Given the description of an element on the screen output the (x, y) to click on. 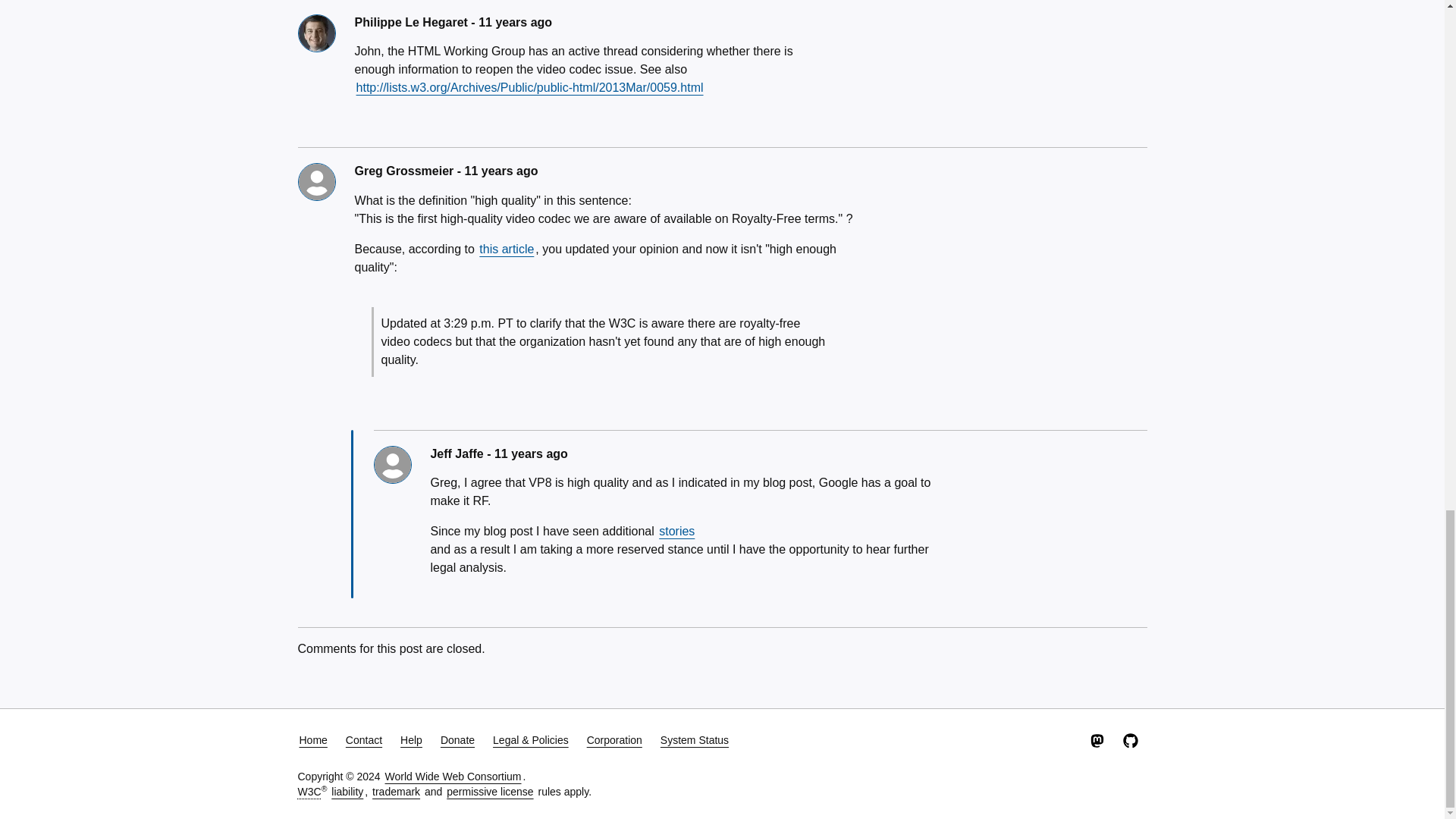
9 May 2013 at 23:04:47 UTC (531, 453)
15 March 2013 at 14:44:44 UTC (515, 21)
W3C Document License (489, 791)
World Wide Web Consortium (308, 791)
9 May 2013 at 22:25:21 UTC (500, 170)
